Given the description of an element on the screen output the (x, y) to click on. 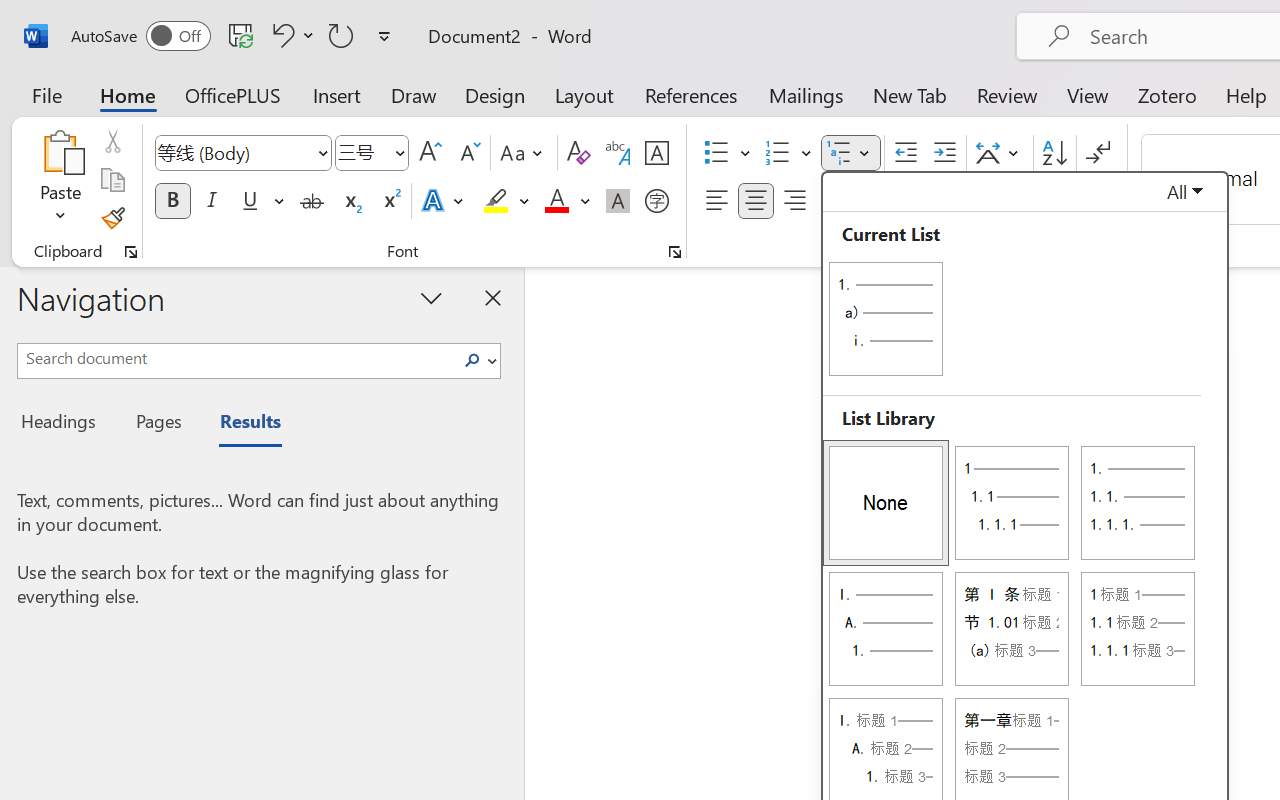
New File... (216, 89)
File (52, 18)
Edit (89, 18)
Go Forward (Alt+RightArrow) (986, 18)
New Folder... (240, 89)
test.py (363, 58)
Views and More Actions... (279, 58)
Run (271, 18)
Tab actions (648, 58)
auto.py (483, 58)
Collapse Folders in Explorer (289, 89)
Explorer actions (208, 58)
Go (235, 18)
